Given the description of an element on the screen output the (x, y) to click on. 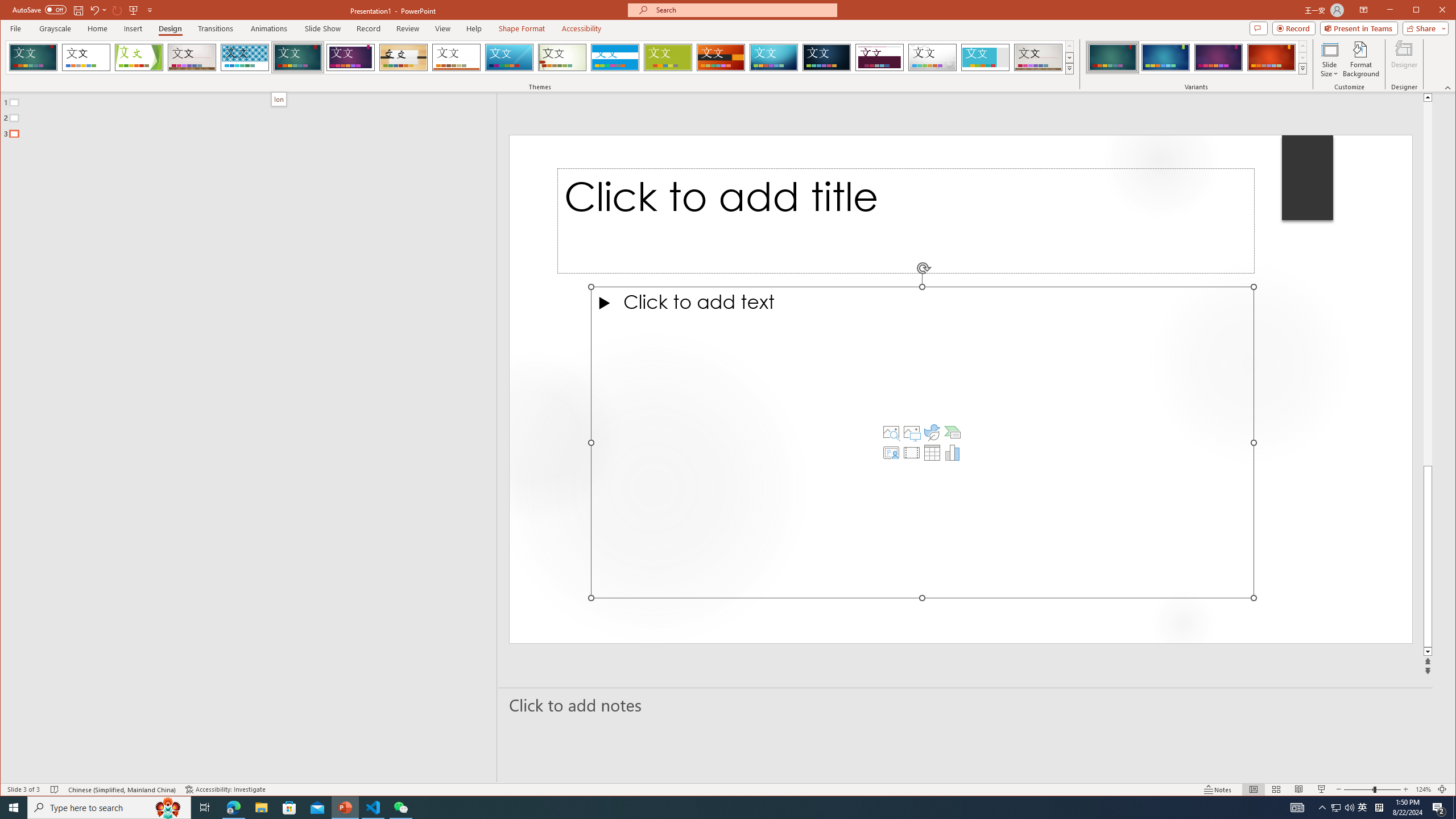
Office Theme (85, 57)
Ion Variant 3 (1218, 57)
Ion Variant 1 (1112, 57)
AutomationID: SlideThemesGallery (540, 57)
